Given the description of an element on the screen output the (x, y) to click on. 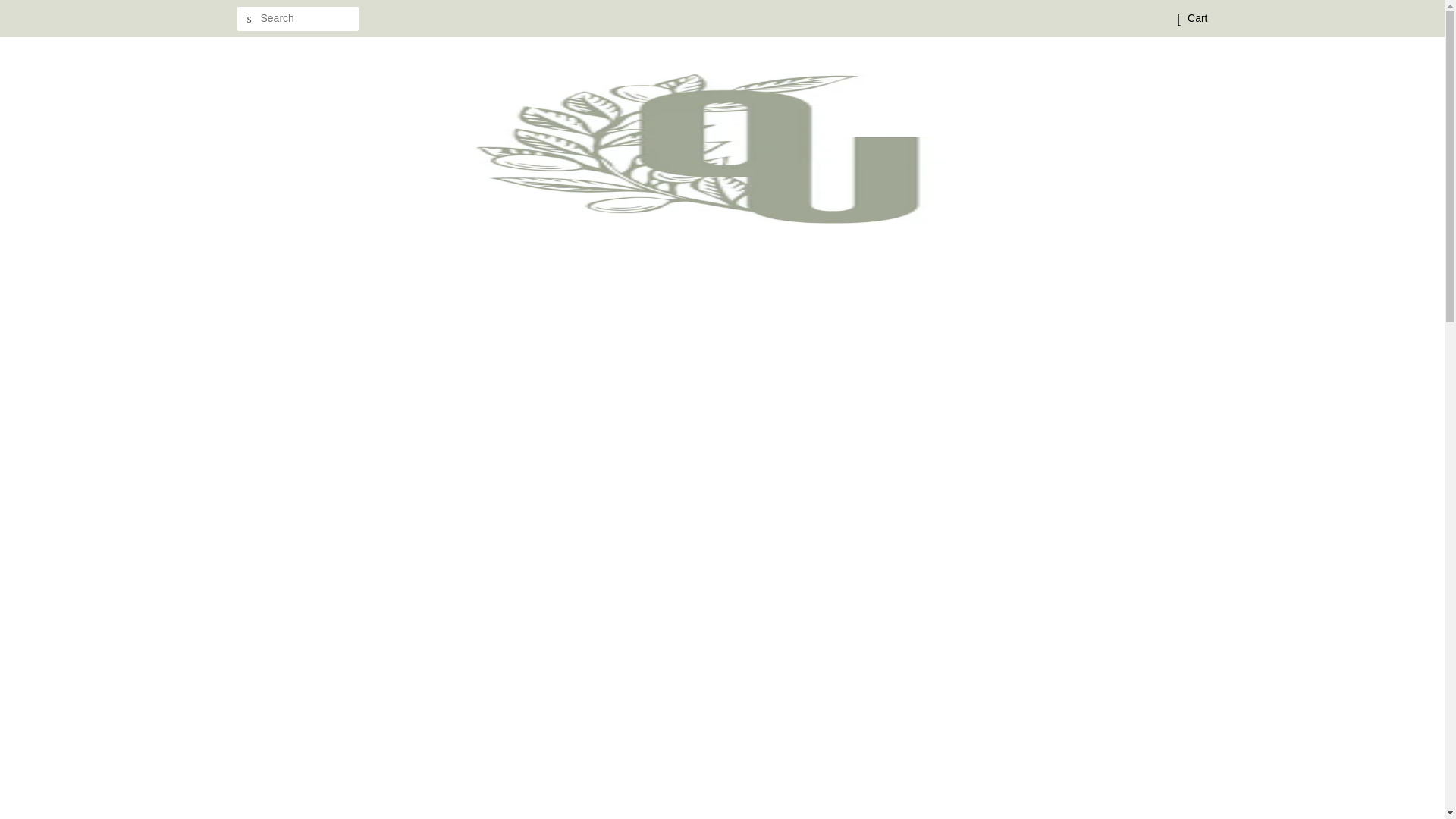
Search (247, 18)
Cart (1197, 18)
